Given the description of an element on the screen output the (x, y) to click on. 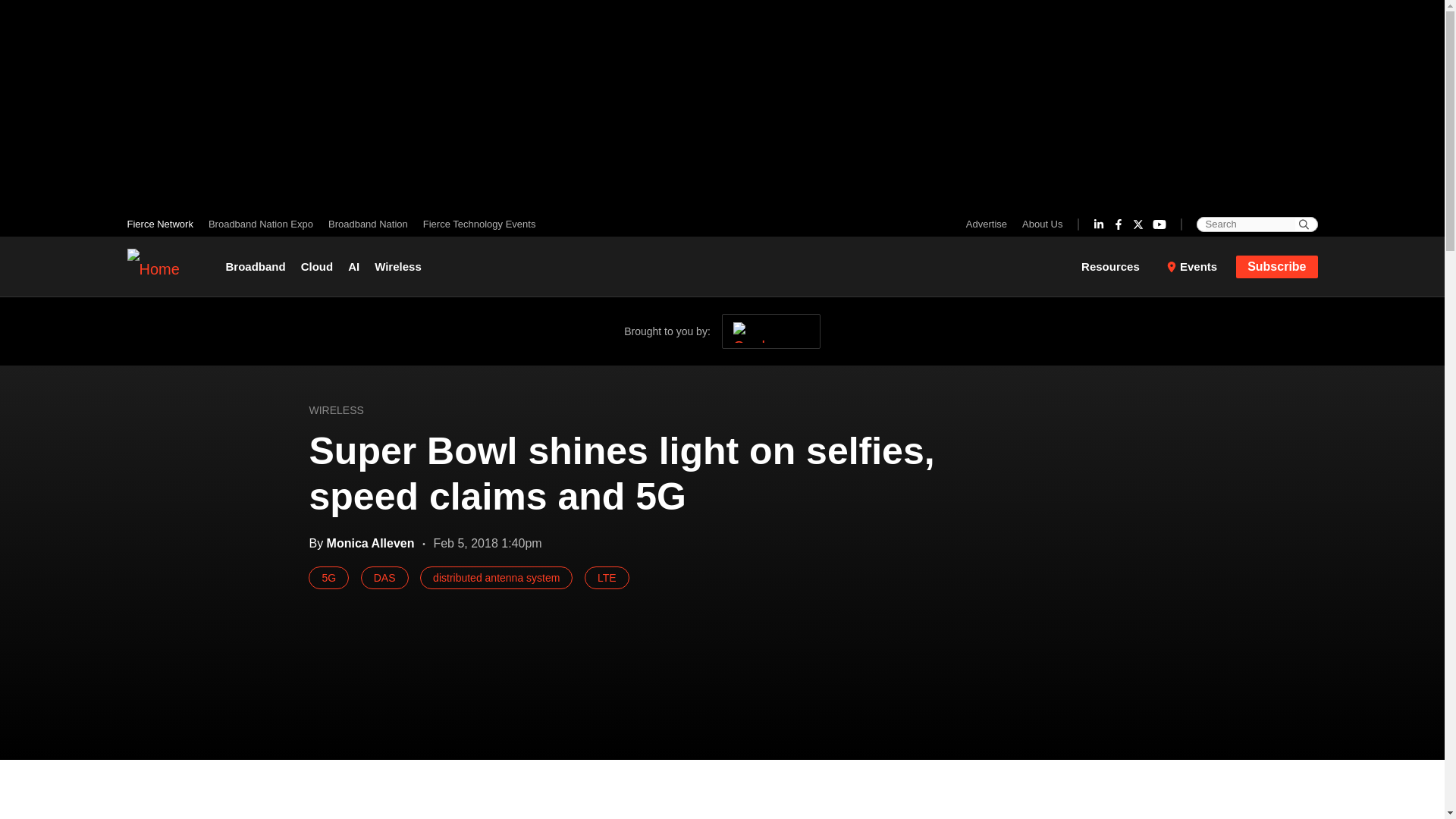
Wireless (397, 266)
Broadband (259, 266)
Cloud (317, 266)
Subscribe (1276, 265)
Fierce Network (164, 224)
Advertise (990, 224)
Broadband Nation Expo (260, 224)
AI (353, 266)
Fierce Technology Events (474, 224)
About Us (1038, 224)
Broadband Nation (367, 224)
Resources (1119, 266)
